Given the description of an element on the screen output the (x, y) to click on. 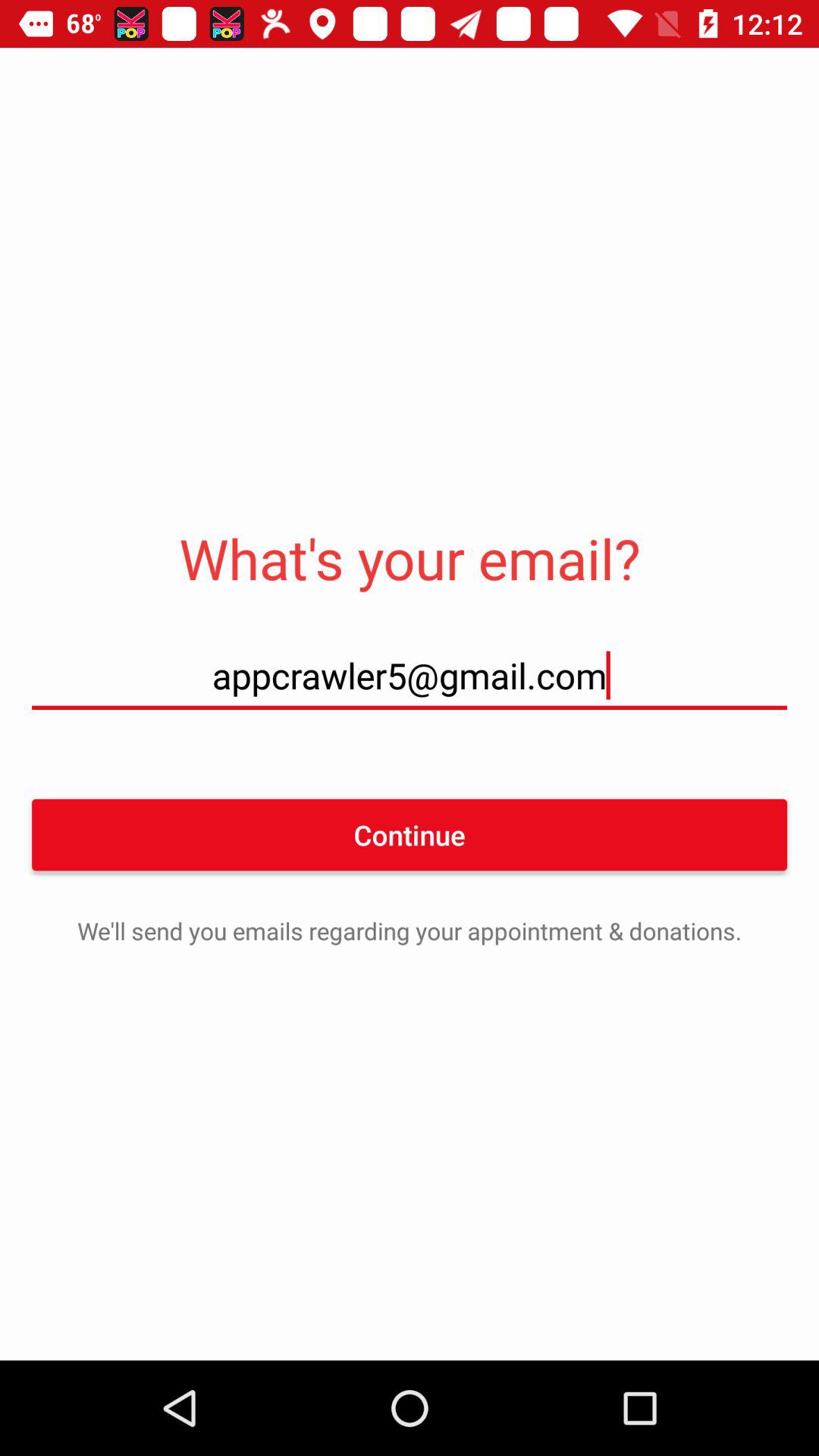
turn off continue item (409, 834)
